Given the description of an element on the screen output the (x, y) to click on. 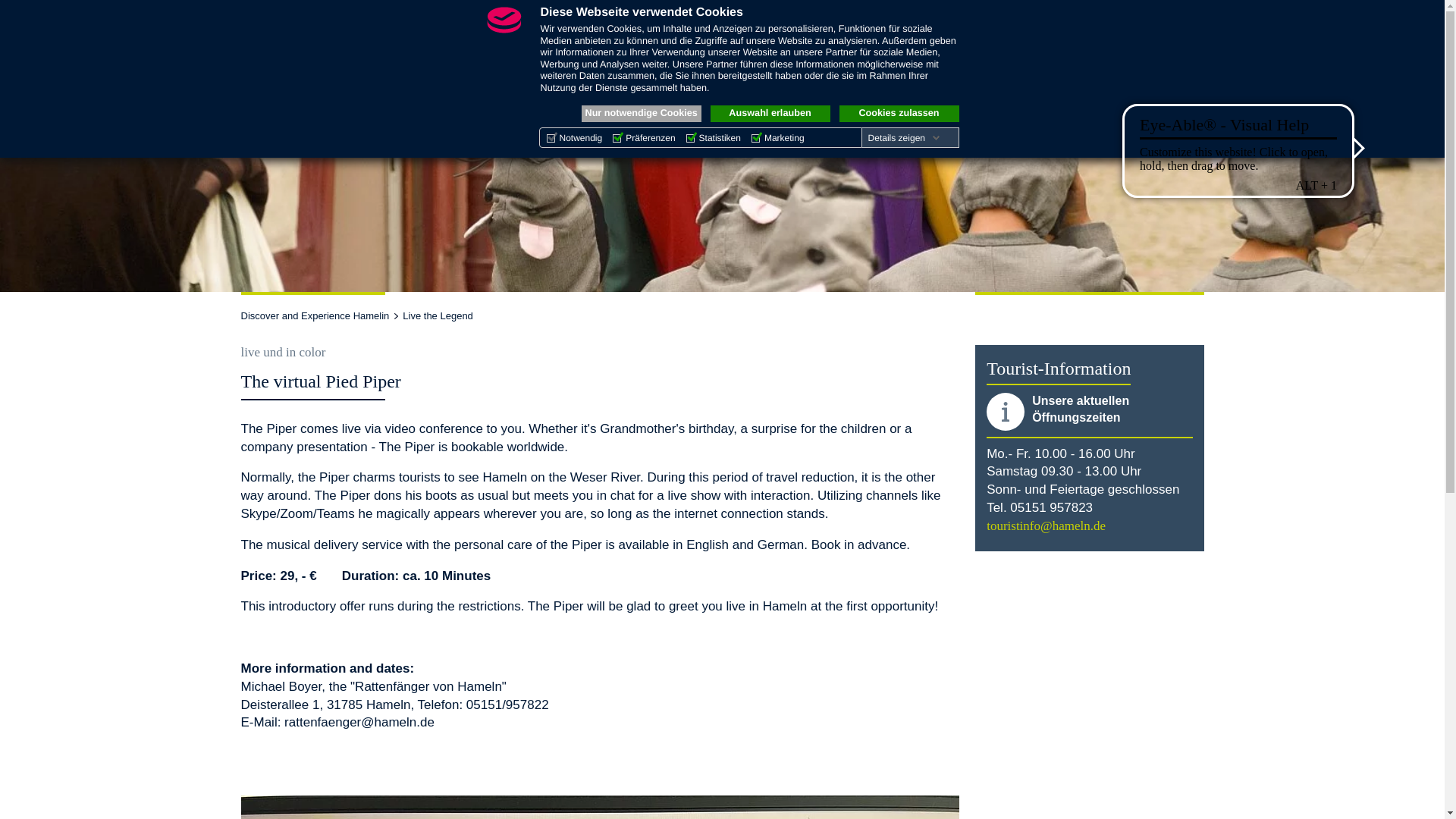
Nur notwendige Cookies (640, 113)
Auswahl erlauben (769, 113)
Cookies zulassen (898, 113)
Details zeigen (903, 137)
